Given the description of an element on the screen output the (x, y) to click on. 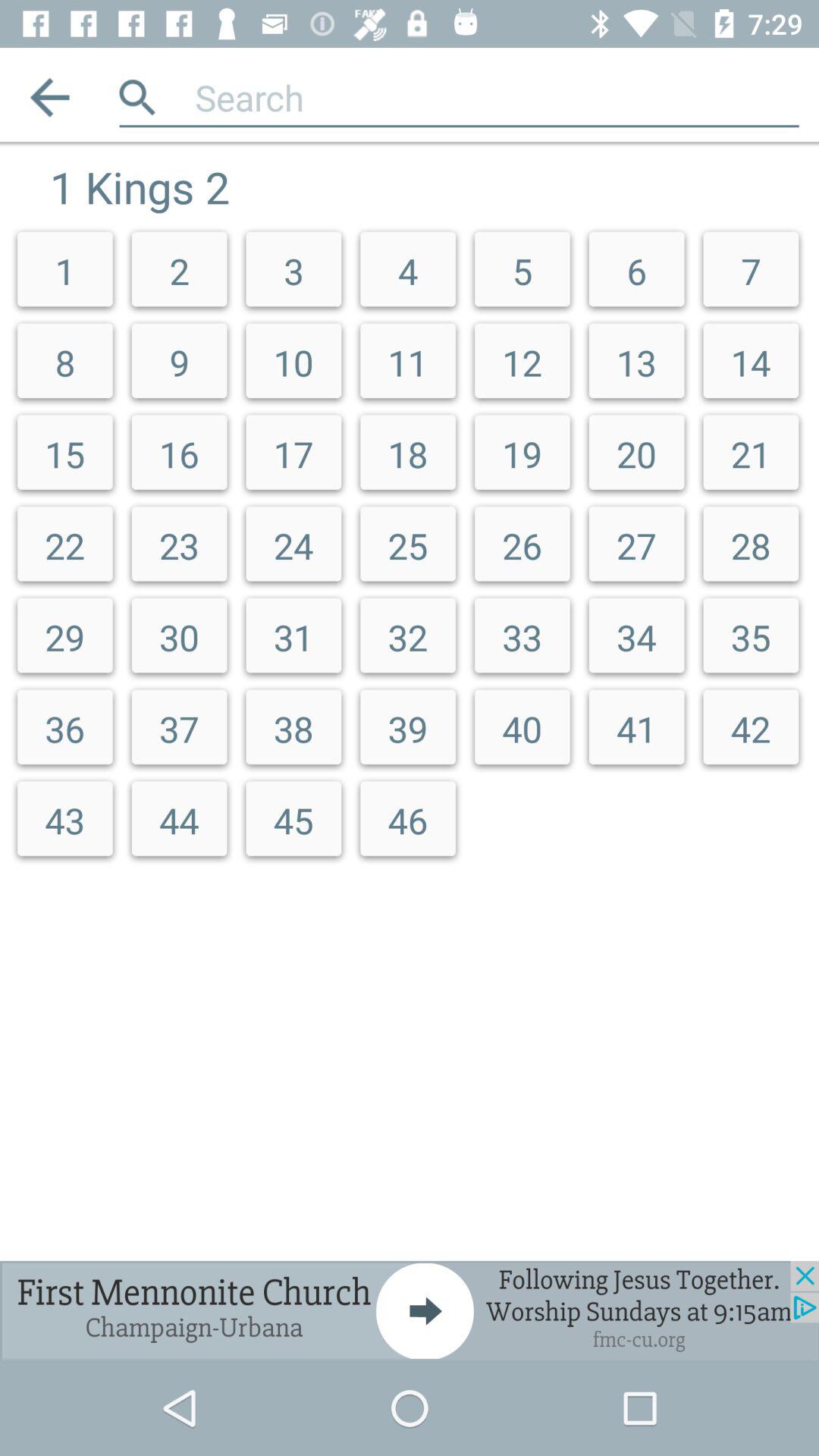
go to advertisement (409, 1310)
